Given the description of an element on the screen output the (x, y) to click on. 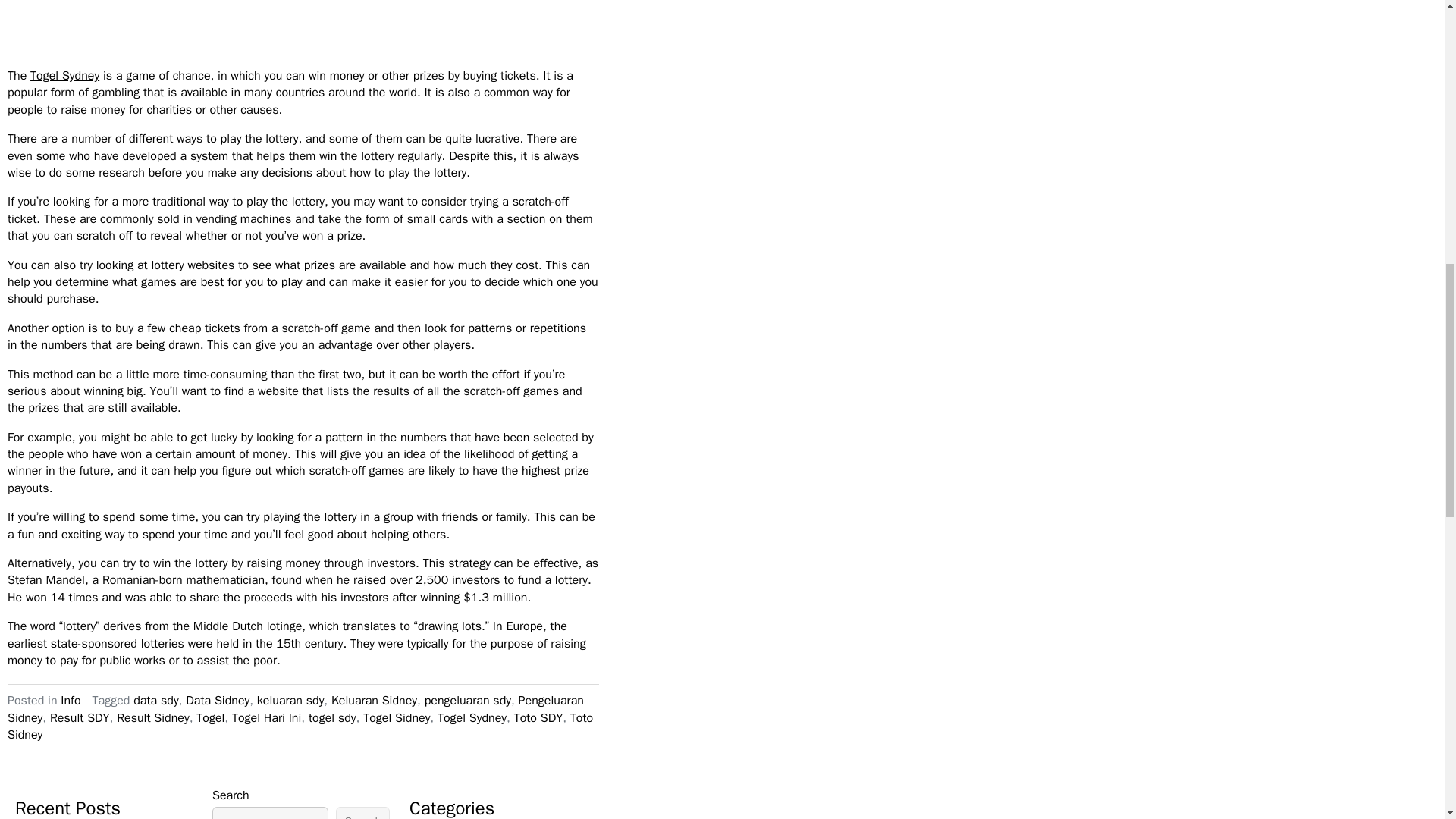
Togel Sidney (395, 717)
pengeluaran sdy (468, 700)
Toto SDY (538, 717)
Result SDY (79, 717)
togel sdy (332, 717)
Pengeluaran Sidney (295, 708)
Togel (210, 717)
Togel Sydney (64, 75)
Togel Hari Ini (266, 717)
Info (70, 700)
